Given the description of an element on the screen output the (x, y) to click on. 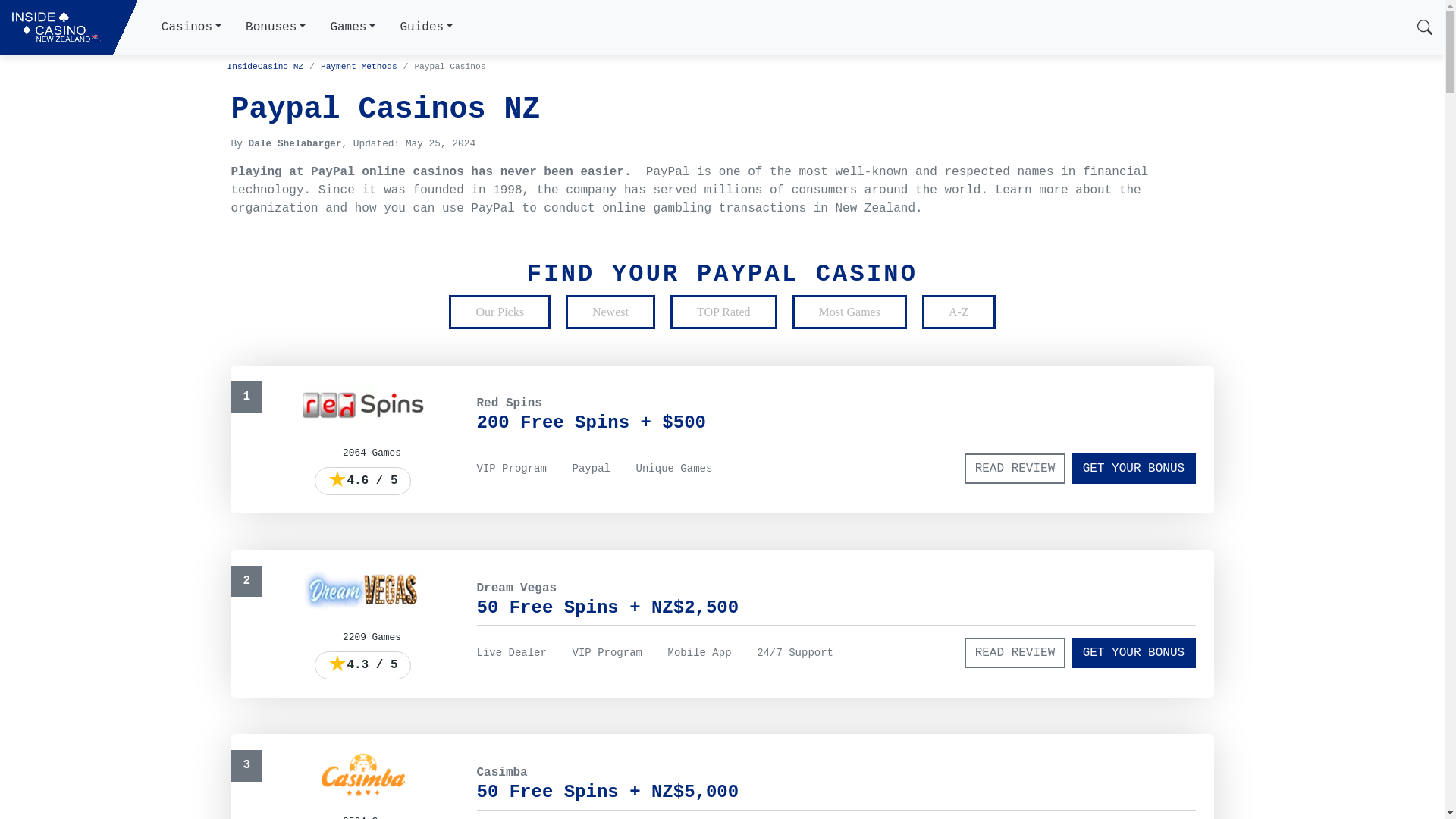
Games (352, 27)
Casinos (190, 27)
Bonuses (274, 27)
